Given the description of an element on the screen output the (x, y) to click on. 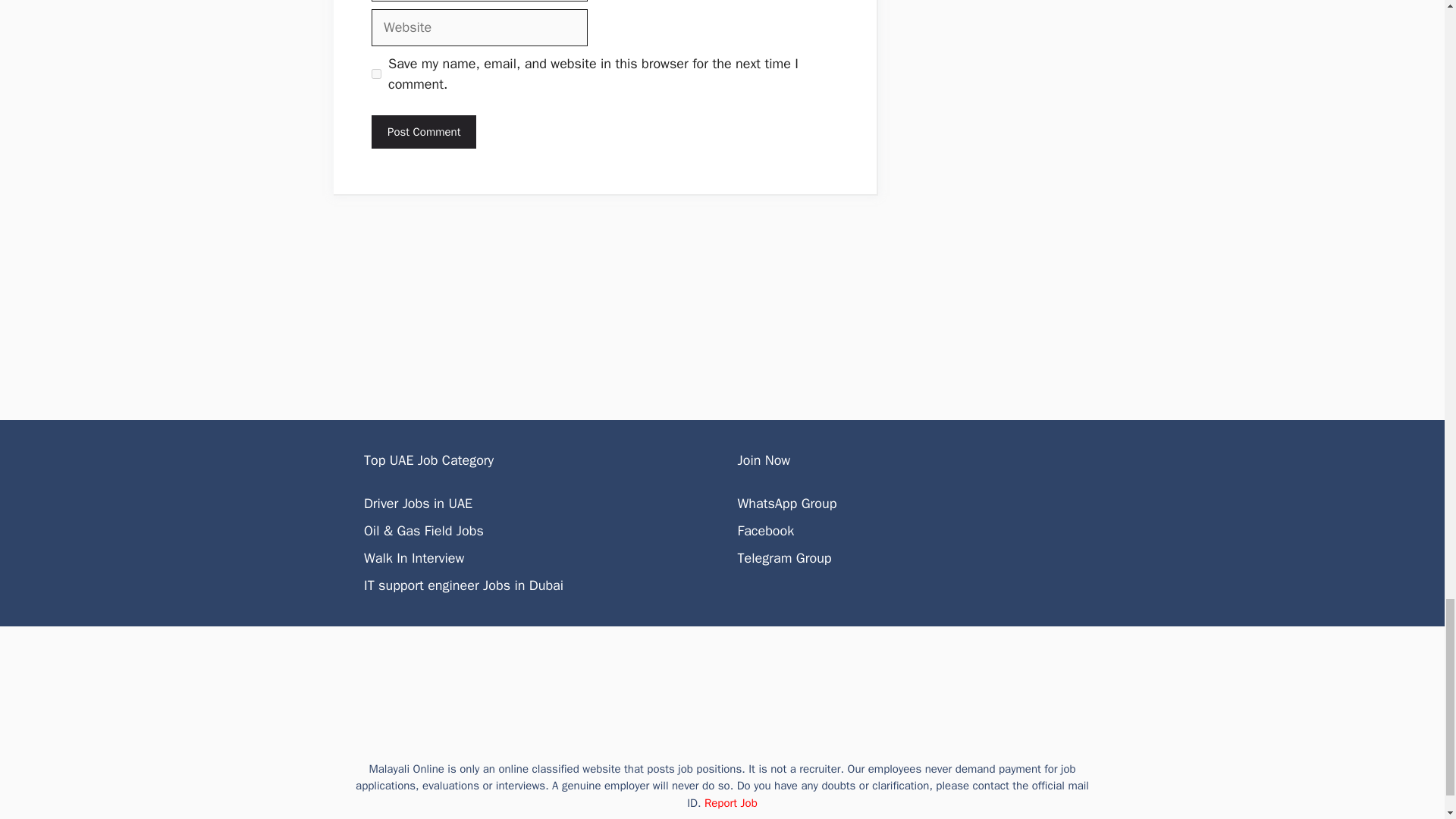
yes (376, 73)
Post Comment (423, 132)
